Given the description of an element on the screen output the (x, y) to click on. 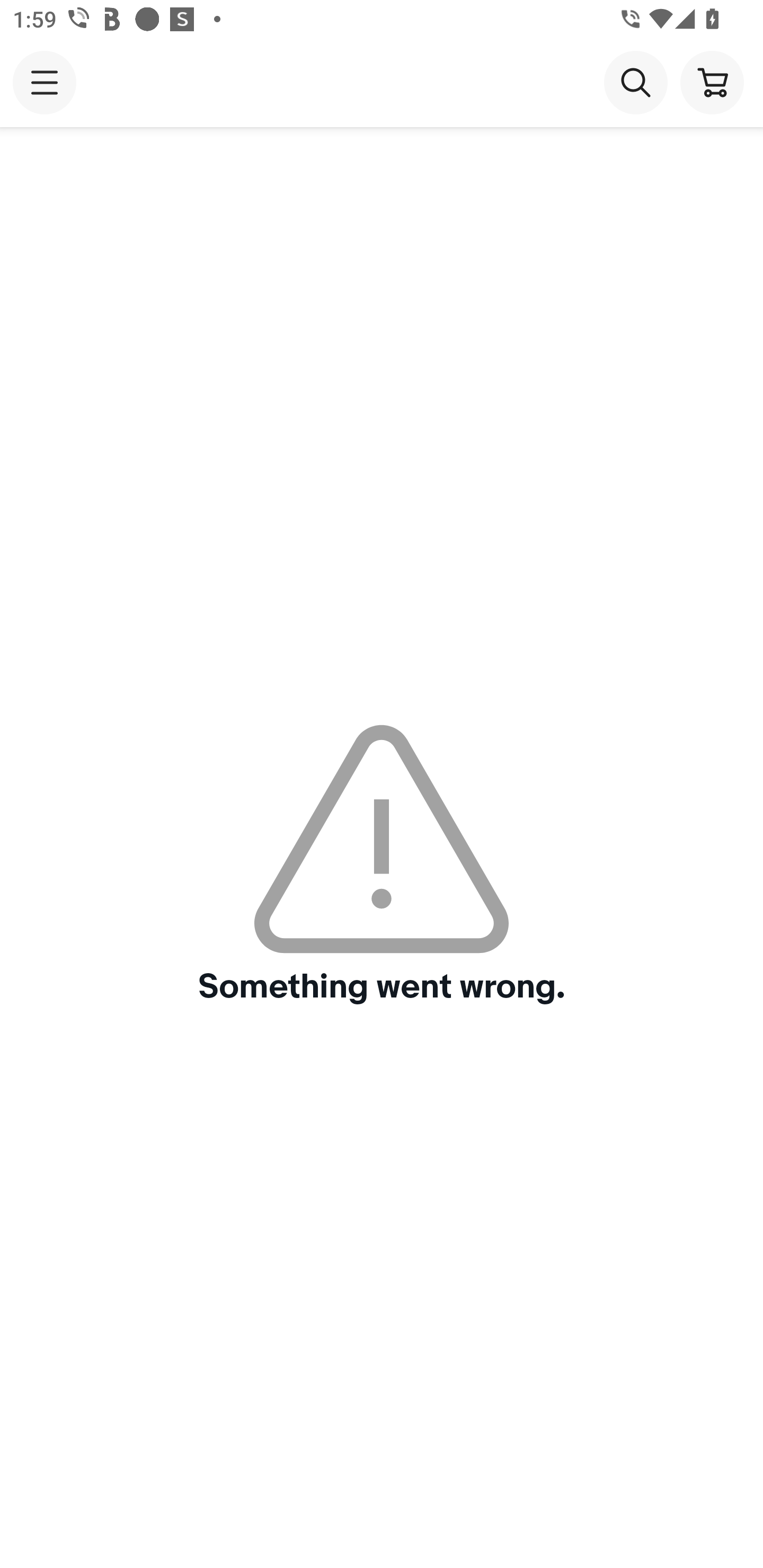
Main navigation, open (44, 82)
Search (635, 81)
Cart button shopping cart (711, 81)
